Given the description of an element on the screen output the (x, y) to click on. 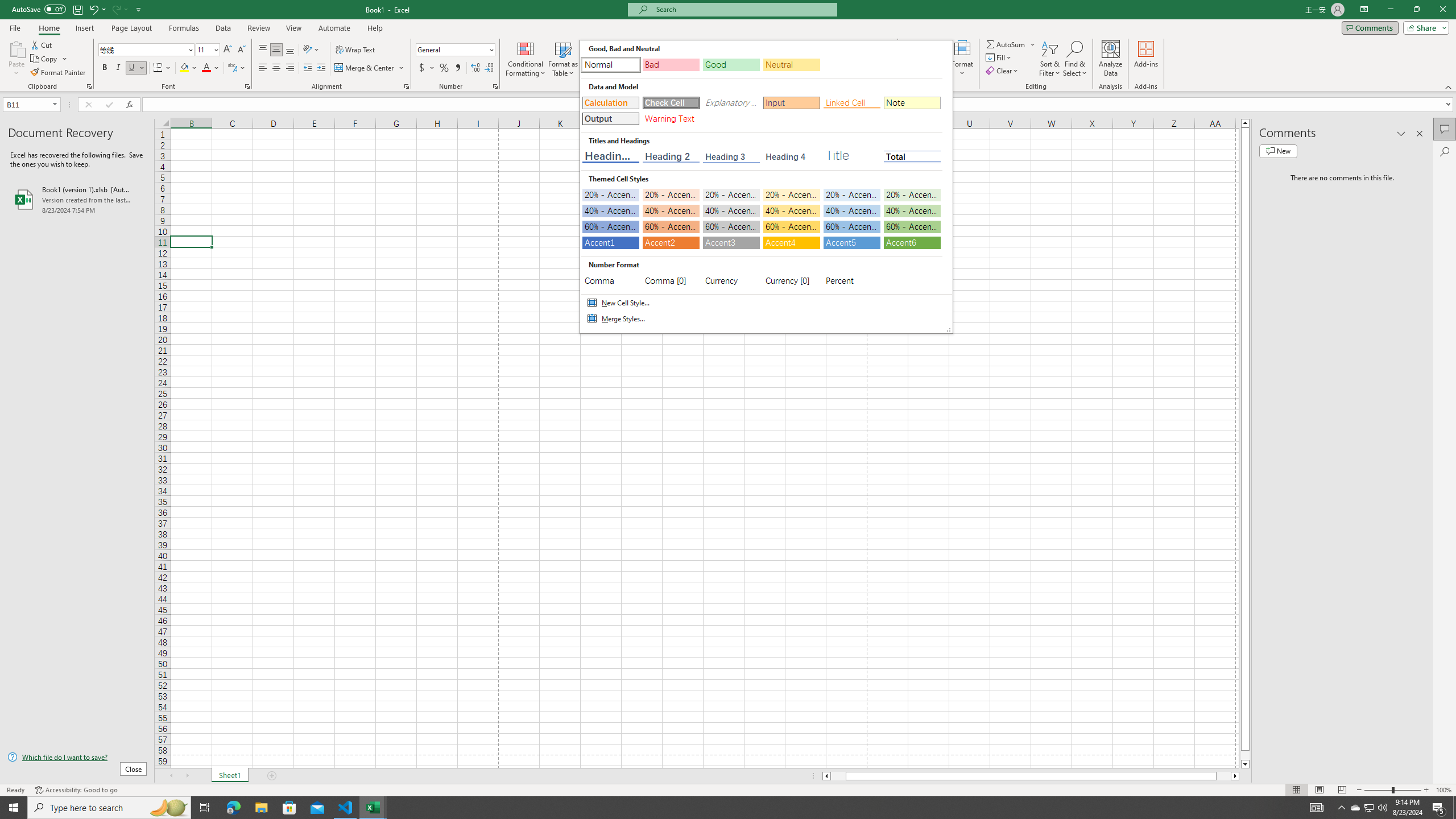
Wrap Text (355, 49)
AutoSum (1011, 44)
Orientation (311, 49)
Excel - 2 running windows (373, 807)
Format as Table (563, 58)
Action Center, 5 new notifications (1439, 807)
Accounting Number Format (422, 67)
Font Color RGB(255, 0, 0) (206, 67)
Format Cell Alignment (405, 85)
Sort & Filter (1049, 58)
